Given the description of an element on the screen output the (x, y) to click on. 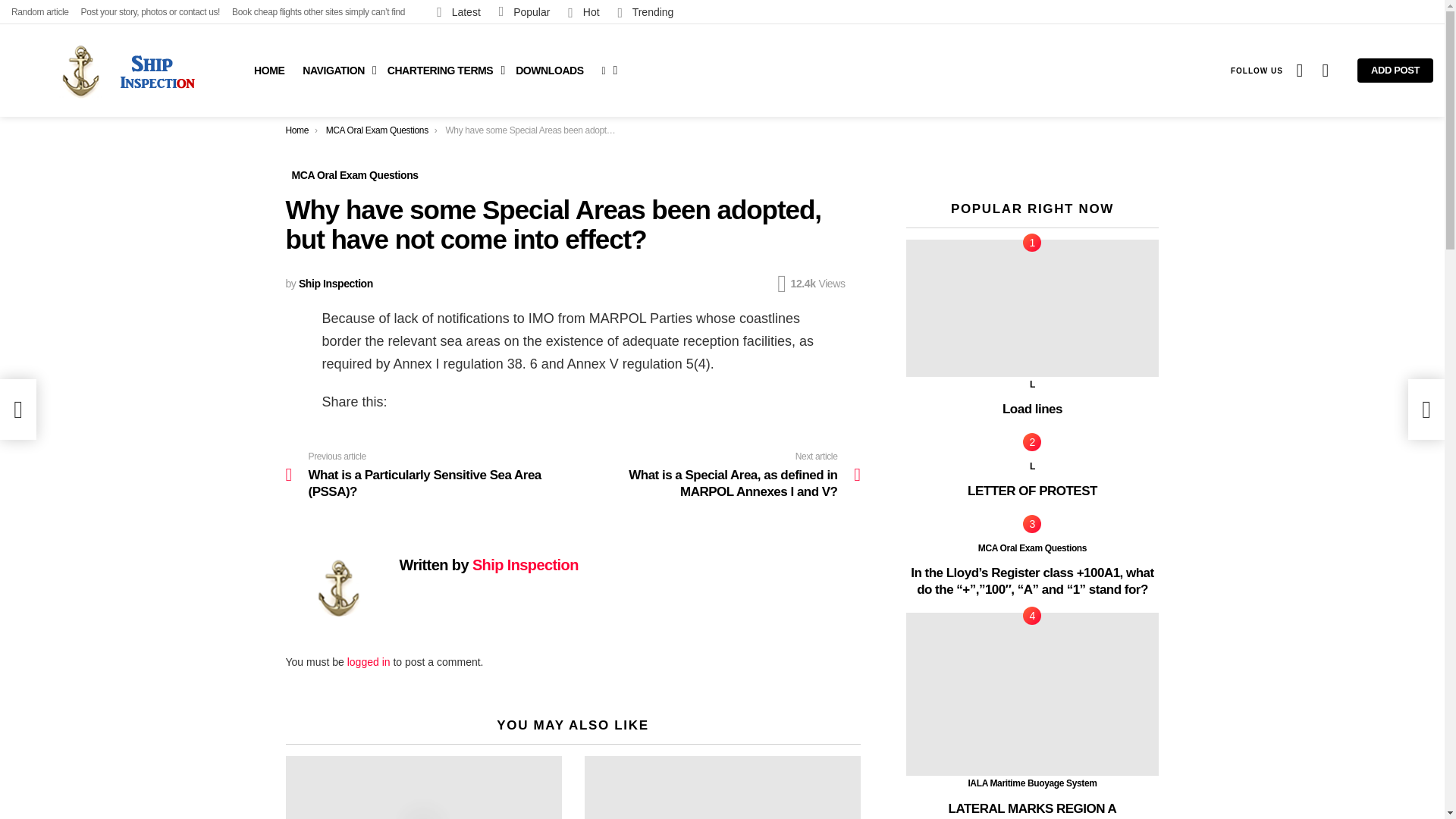
Popular (524, 11)
HOME (269, 69)
Hot (583, 11)
NAVIGATION (336, 69)
CHARTERING TERMS (442, 69)
Latest (458, 11)
Sextant (422, 787)
Follow us (1256, 69)
Random article (39, 12)
Jigsaw puzzle (721, 787)
